Given the description of an element on the screen output the (x, y) to click on. 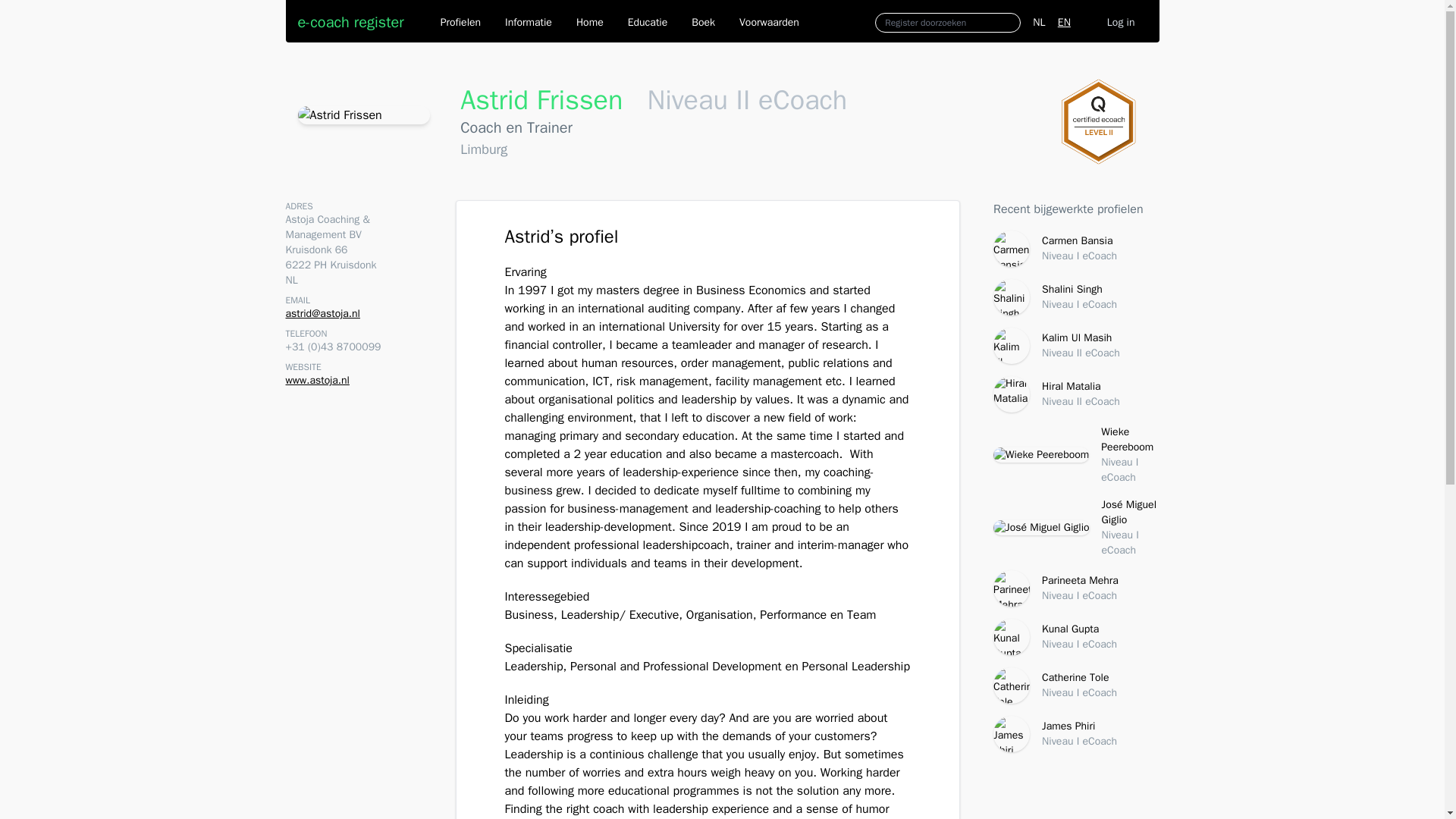
Voorwaarden (768, 22)
Profielen (460, 22)
e-coach register (1075, 685)
Boek (1075, 297)
Home (1075, 345)
